Given the description of an element on the screen output the (x, y) to click on. 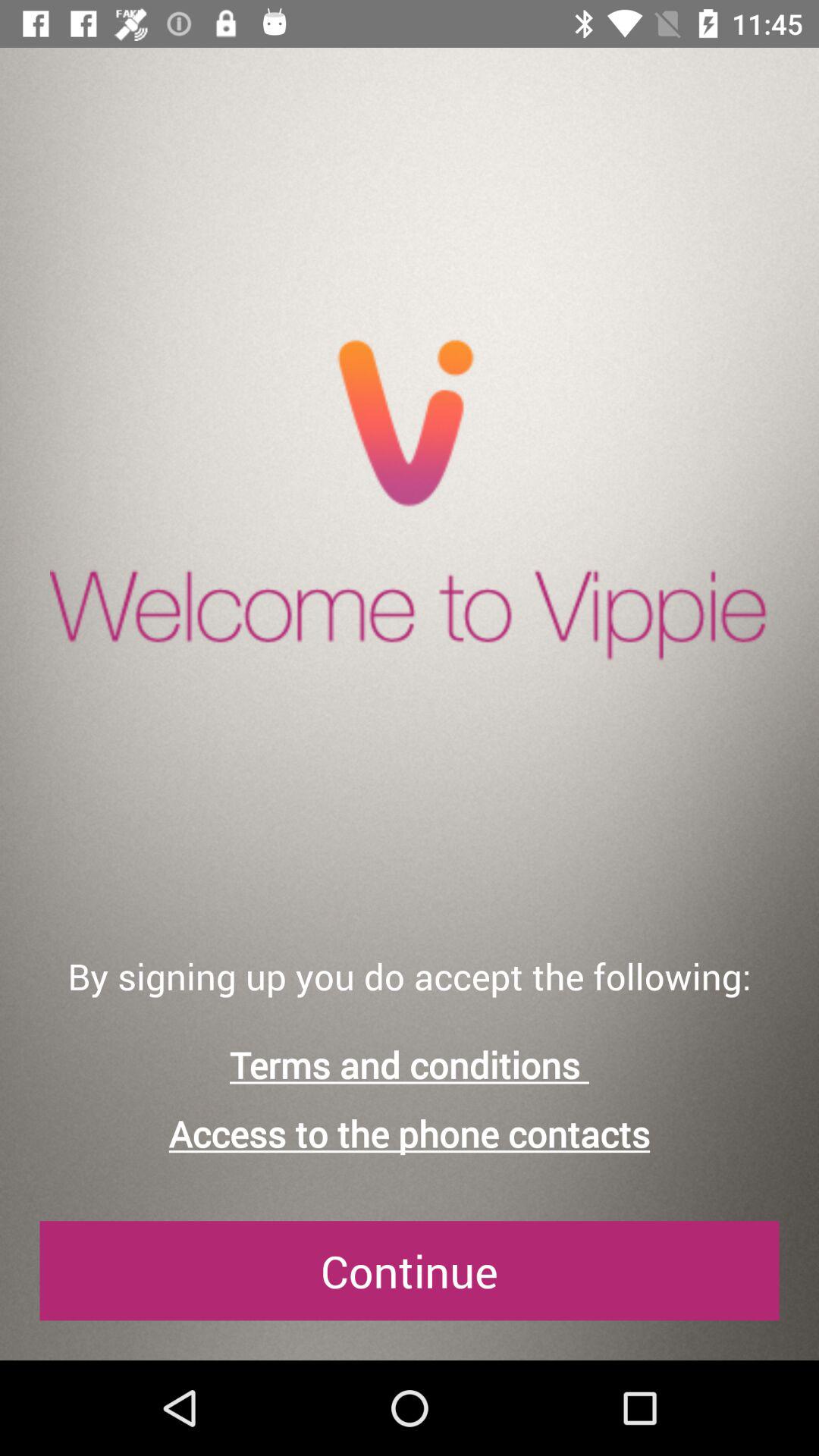
turn on item below by signing up icon (409, 1064)
